Given the description of an element on the screen output the (x, y) to click on. 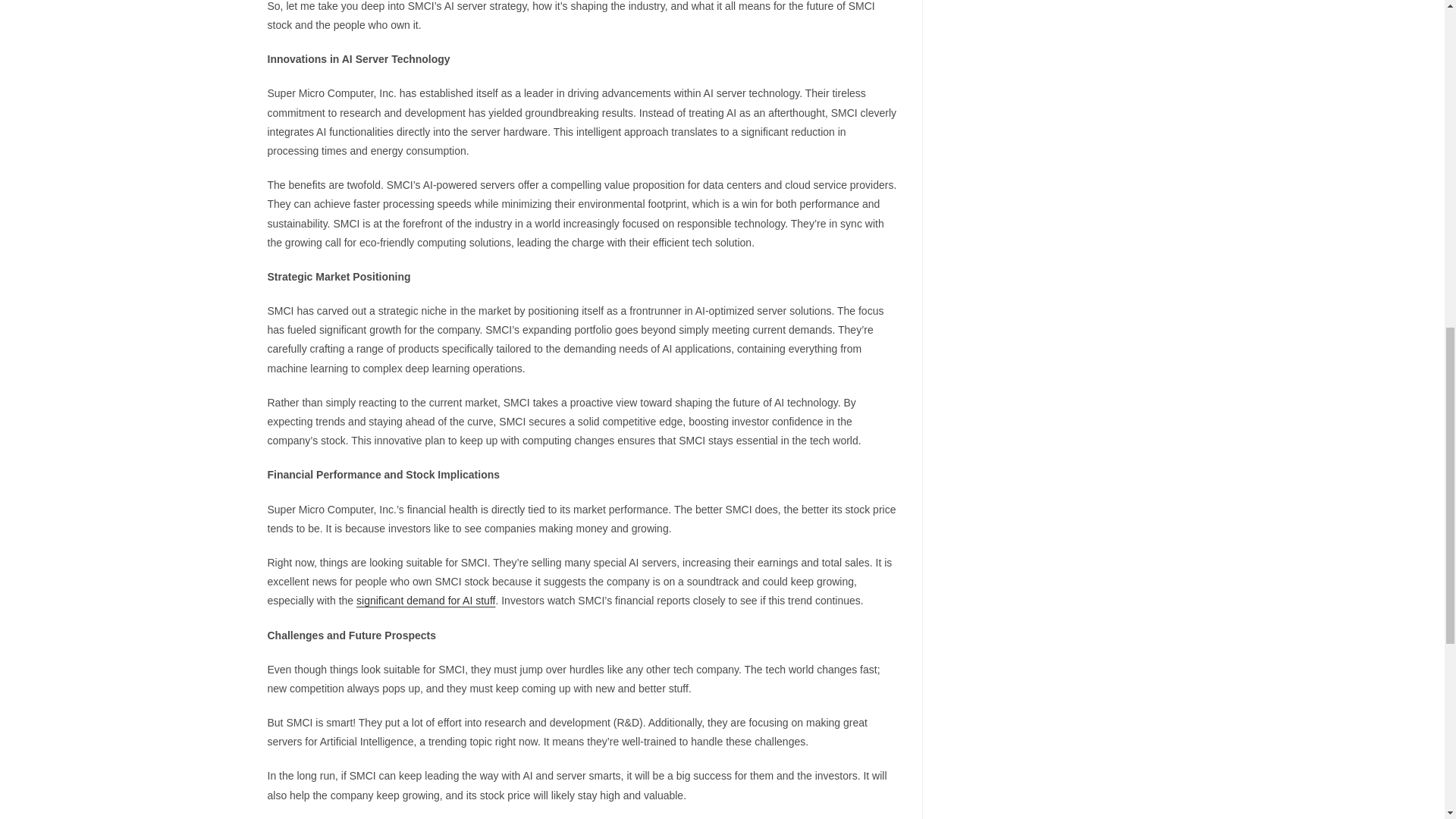
significant demand for AI stuff (425, 600)
